Given the description of an element on the screen output the (x, y) to click on. 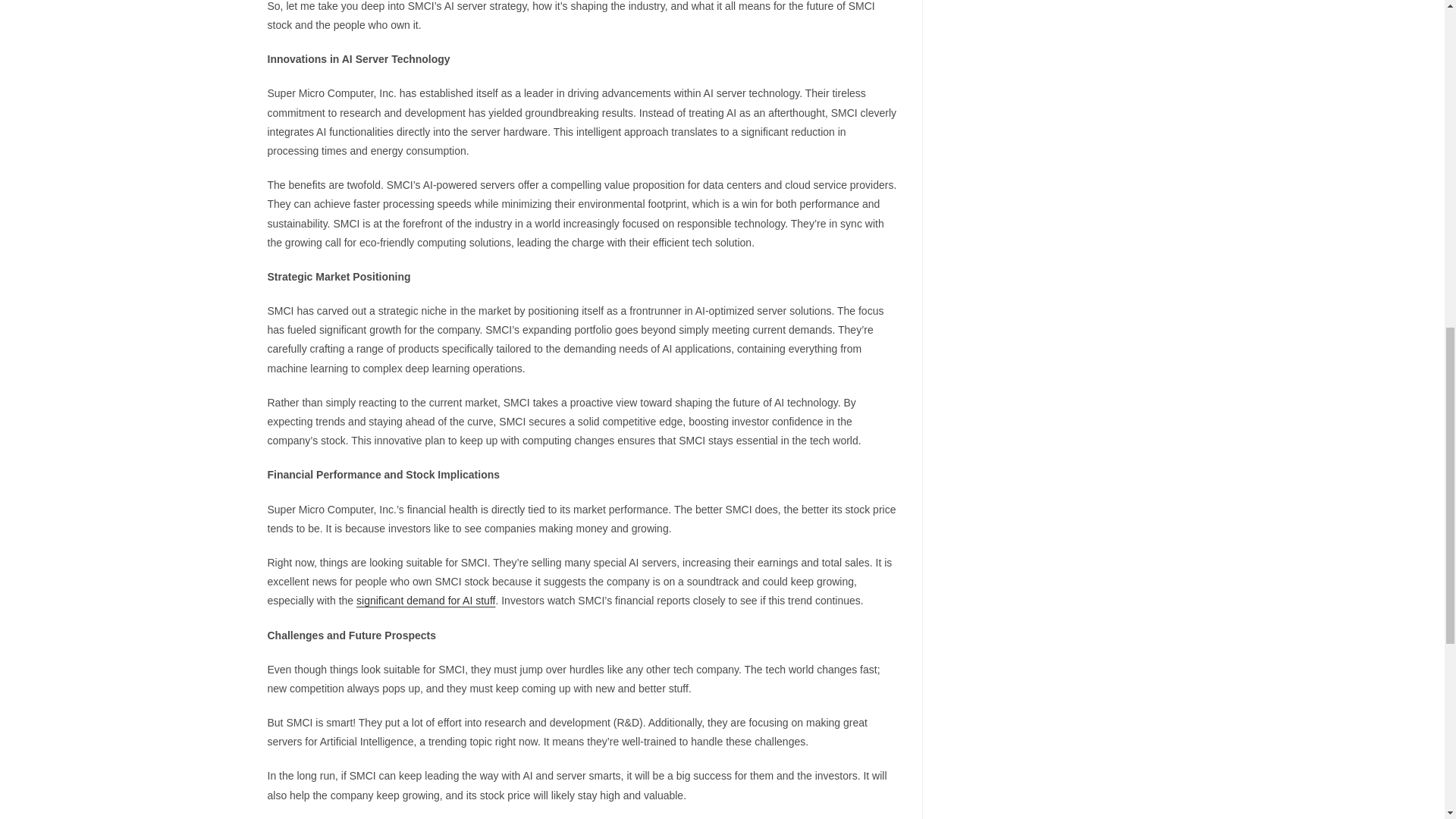
significant demand for AI stuff (425, 600)
